Given the description of an element on the screen output the (x, y) to click on. 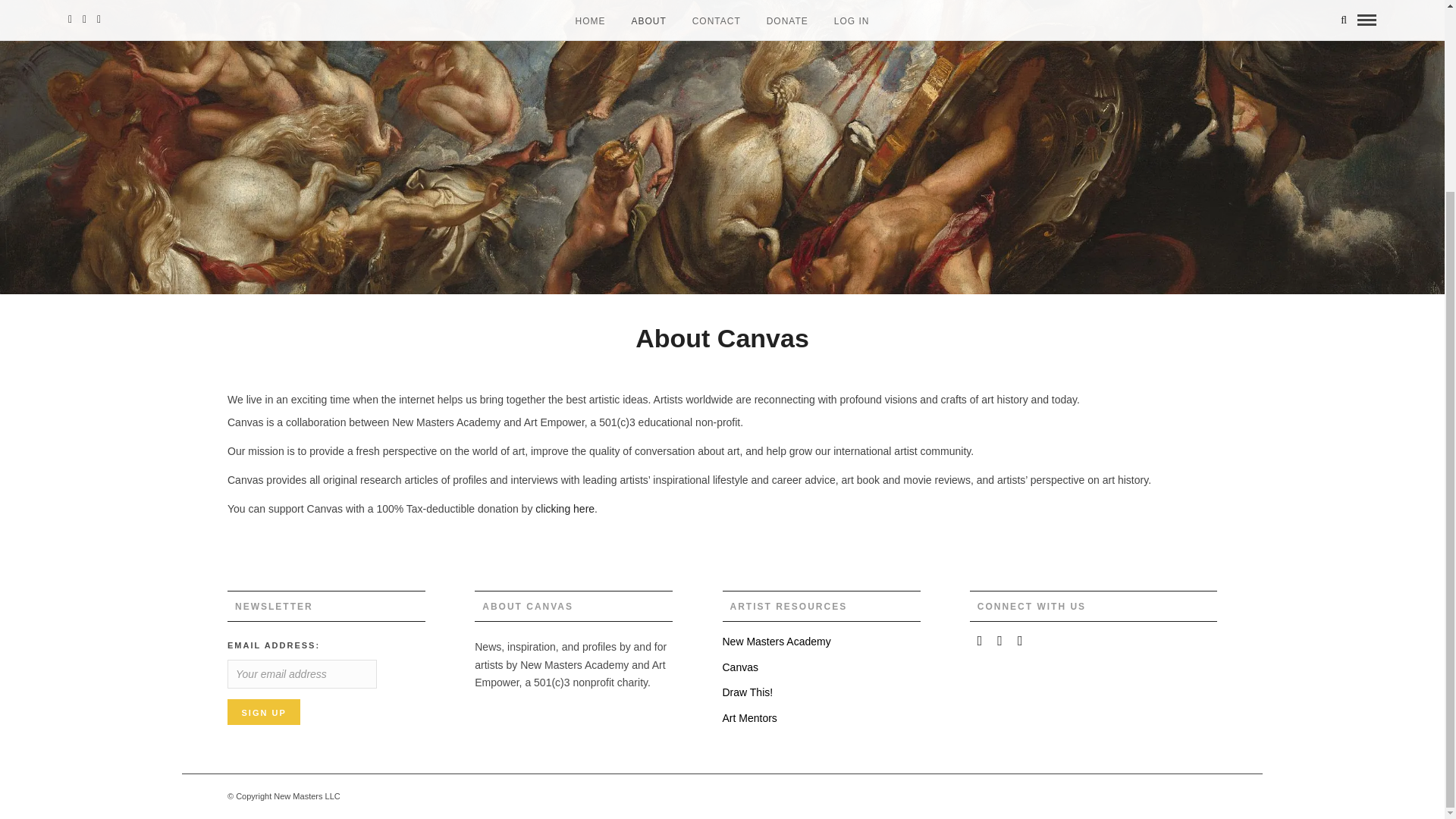
New Masters Academy (775, 641)
clicking here (564, 508)
Sign up (263, 711)
Sign up (263, 711)
Draw This! (747, 692)
Instagram (1020, 640)
Art Mentors (749, 717)
Instagram (1144, 796)
Twitter (1000, 640)
Facebook (979, 640)
Canvas (739, 666)
